Given the description of an element on the screen output the (x, y) to click on. 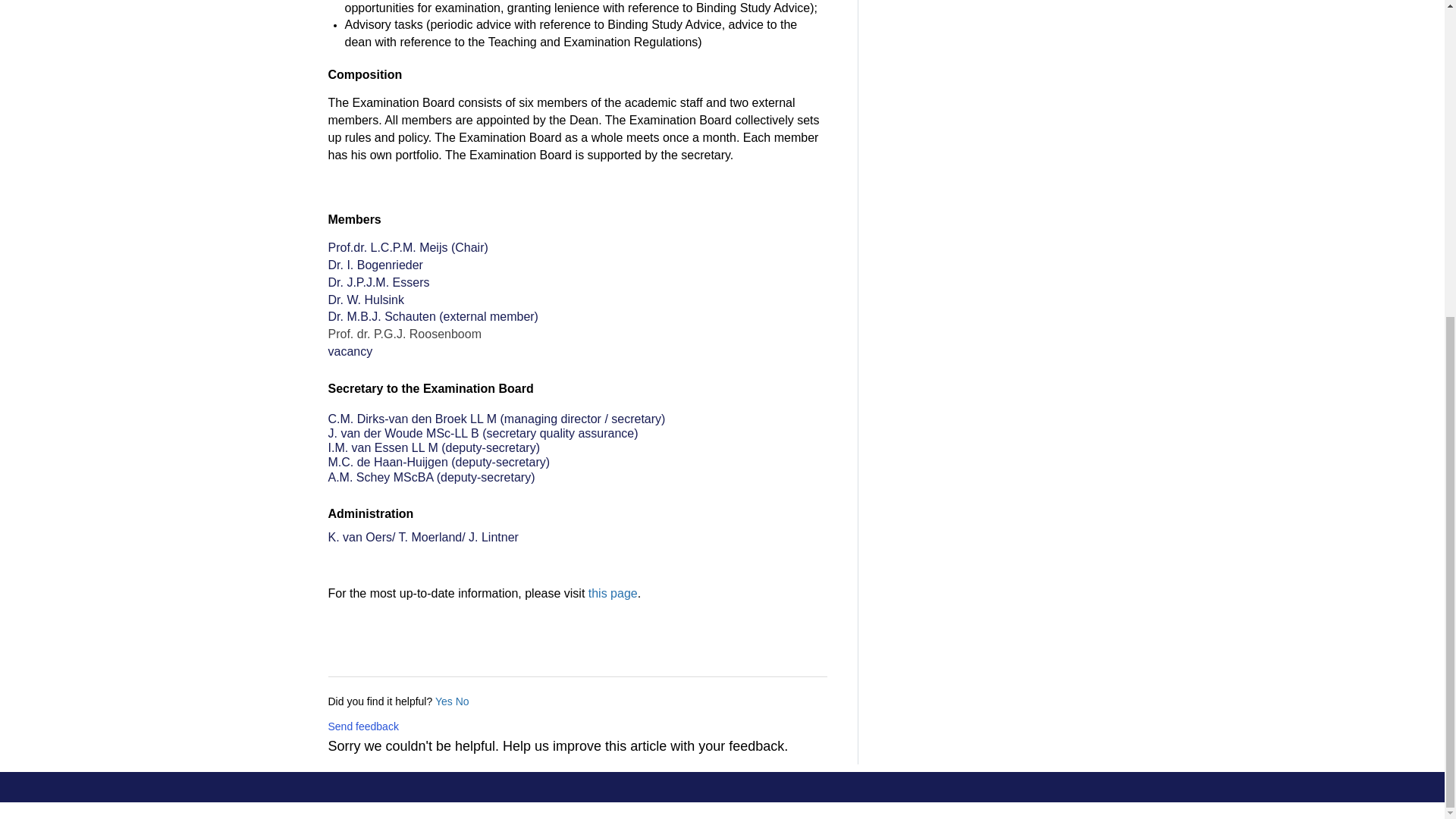
this page (612, 593)
Send feedback (362, 726)
